Given the description of an element on the screen output the (x, y) to click on. 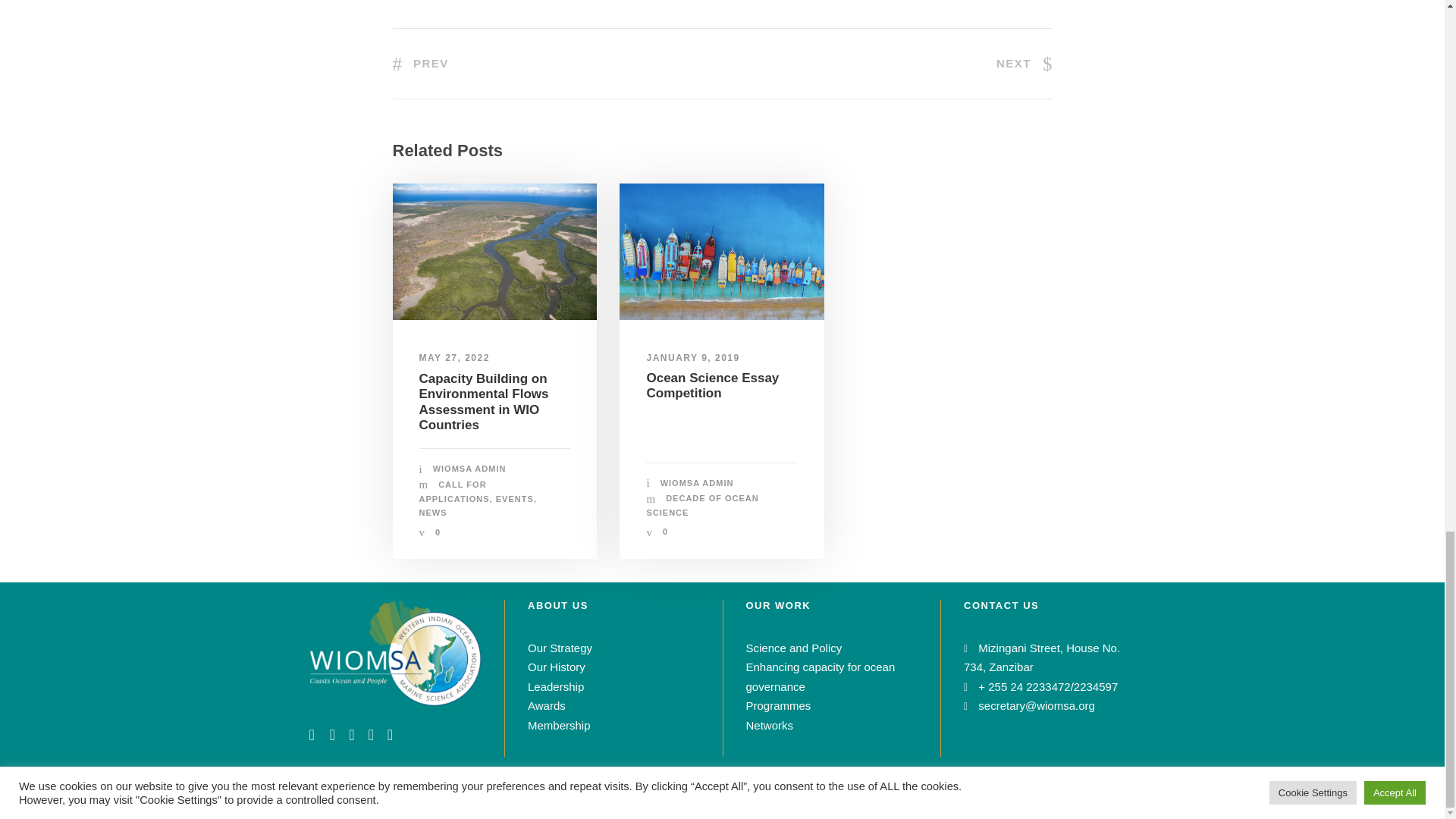
essay competition (722, 251)
Posts by WIOMSA Admin (697, 482)
Posts by WIOMSA Admin (469, 468)
